Given the description of an element on the screen output the (x, y) to click on. 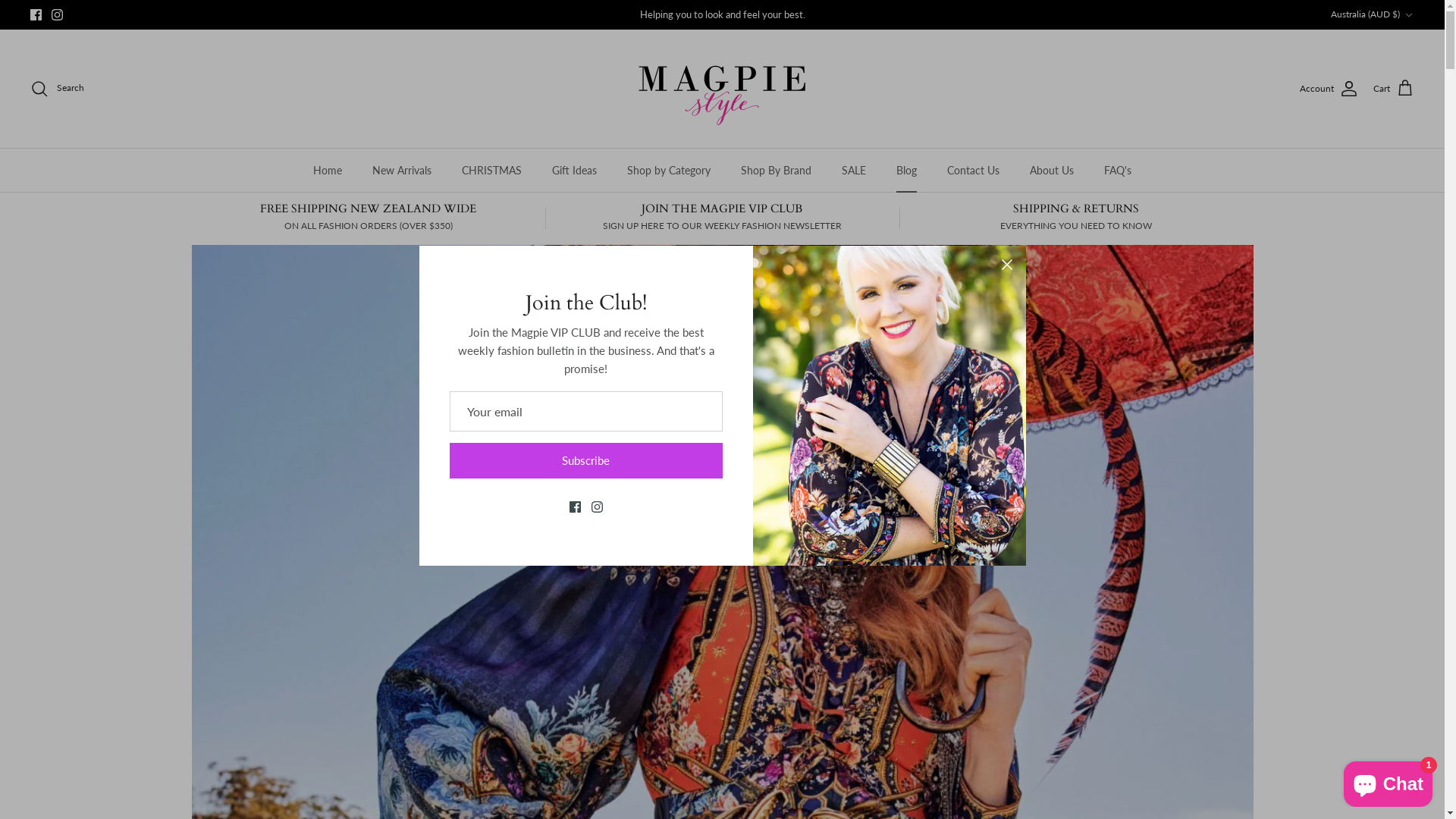
Search Element type: text (57, 88)
Instagram Element type: text (56, 14)
Subscribe Element type: text (584, 460)
Australia (AUD $)
Down Element type: text (1372, 14)
Shop By Brand Element type: text (776, 169)
Account Element type: text (1328, 88)
Magpie Style Element type: hover (722, 88)
Gift Ideas Element type: text (574, 169)
Cart Element type: text (1393, 88)
Shop by Category Element type: text (668, 169)
Home Element type: text (327, 169)
Blog Element type: text (906, 169)
New Arrivals Element type: text (401, 169)
FAQ's Element type: text (1117, 169)
SHIPPING & RETURNS
EVERYTHING YOU NEED TO KNOW Element type: text (1076, 216)
CHRISTMAS Element type: text (491, 169)
About Us Element type: text (1051, 169)
Shopify online store chat Element type: hover (1388, 780)
Facebook Element type: text (35, 14)
Contact Us Element type: text (973, 169)
SALE Element type: text (853, 169)
